Given the description of an element on the screen output the (x, y) to click on. 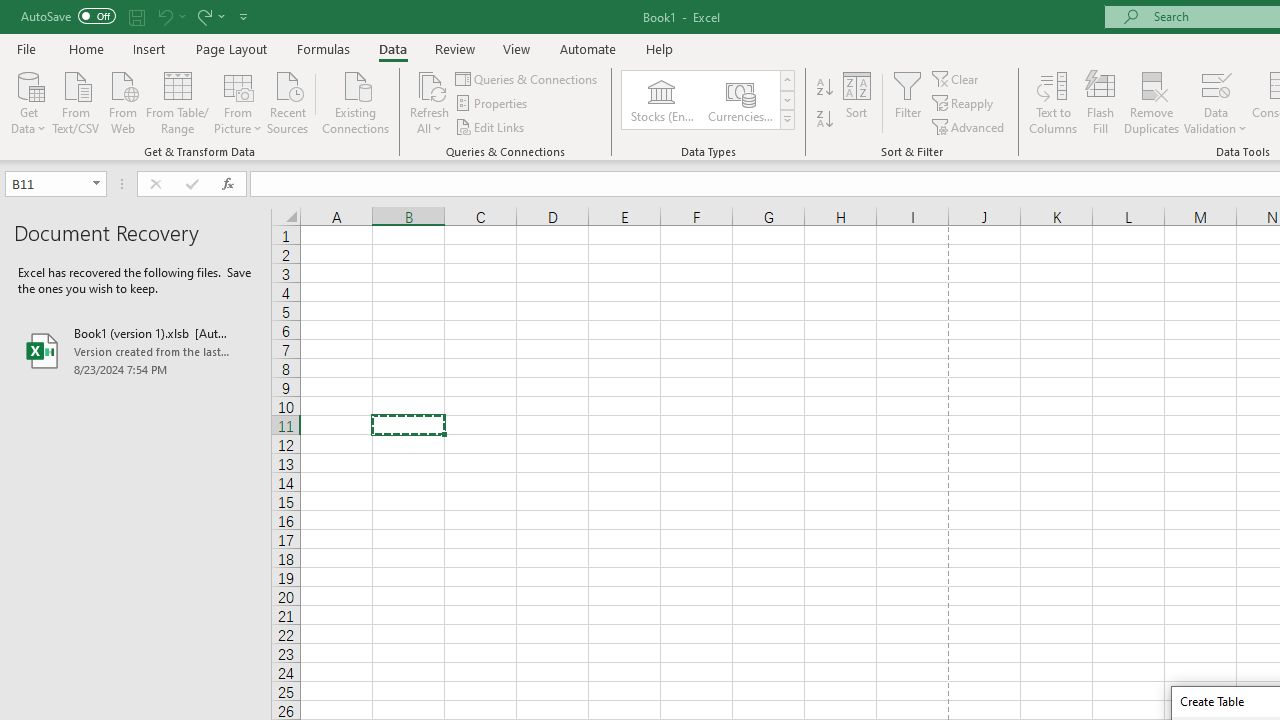
Existing Connections (355, 101)
Currencies (English) (740, 100)
Advanced... (970, 126)
Clear (957, 78)
Sort Z to A (824, 119)
Refresh All (429, 102)
